Given the description of an element on the screen output the (x, y) to click on. 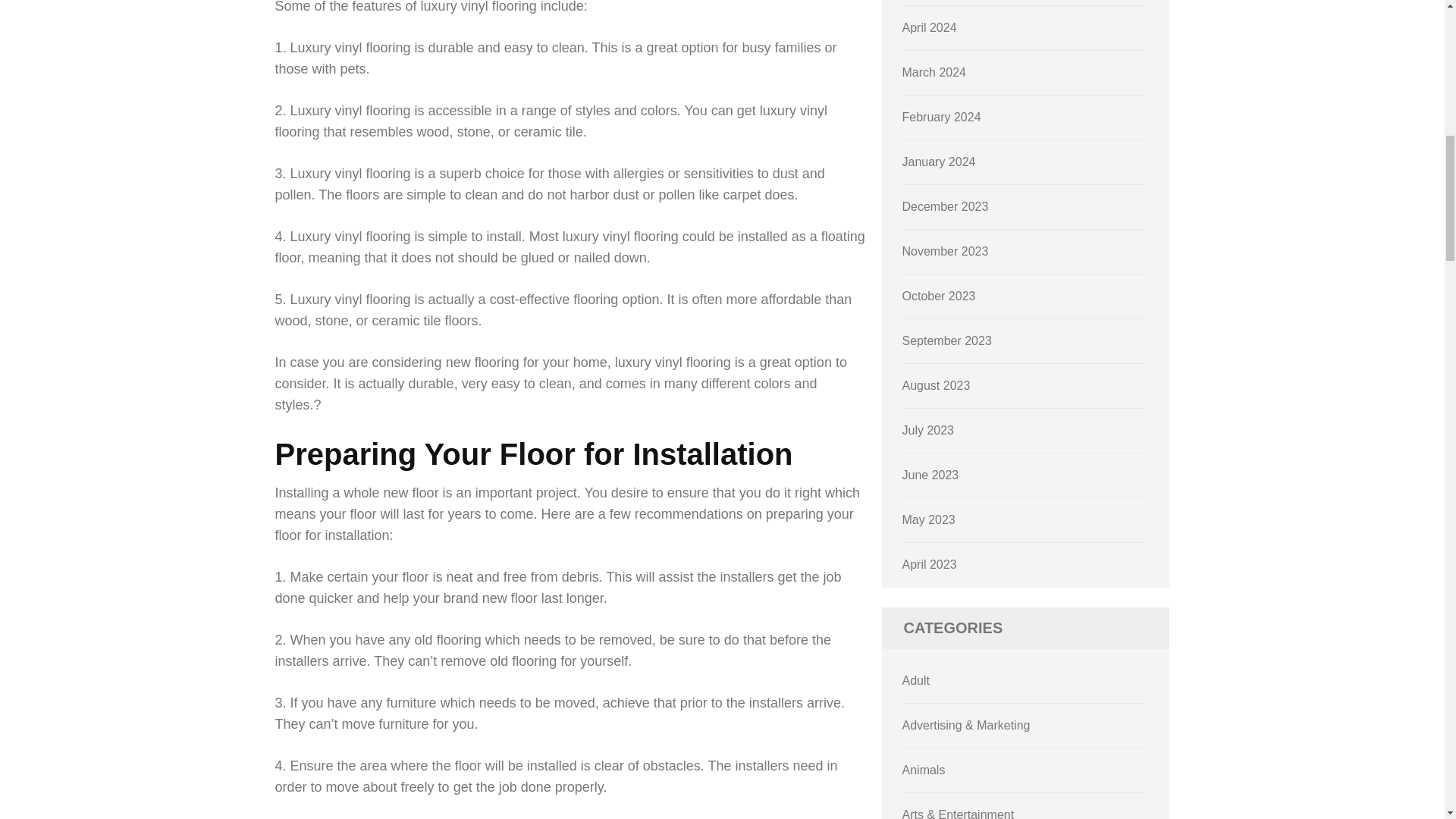
December 2023 (945, 205)
May 2023 (928, 519)
April 2023 (929, 563)
April 2024 (929, 27)
October 2023 (938, 295)
Adult (916, 680)
February 2024 (941, 116)
November 2023 (945, 250)
August 2023 (936, 385)
September 2023 (946, 340)
July 2023 (928, 430)
June 2023 (930, 474)
January 2024 (938, 161)
March 2024 (934, 72)
